Given the description of an element on the screen output the (x, y) to click on. 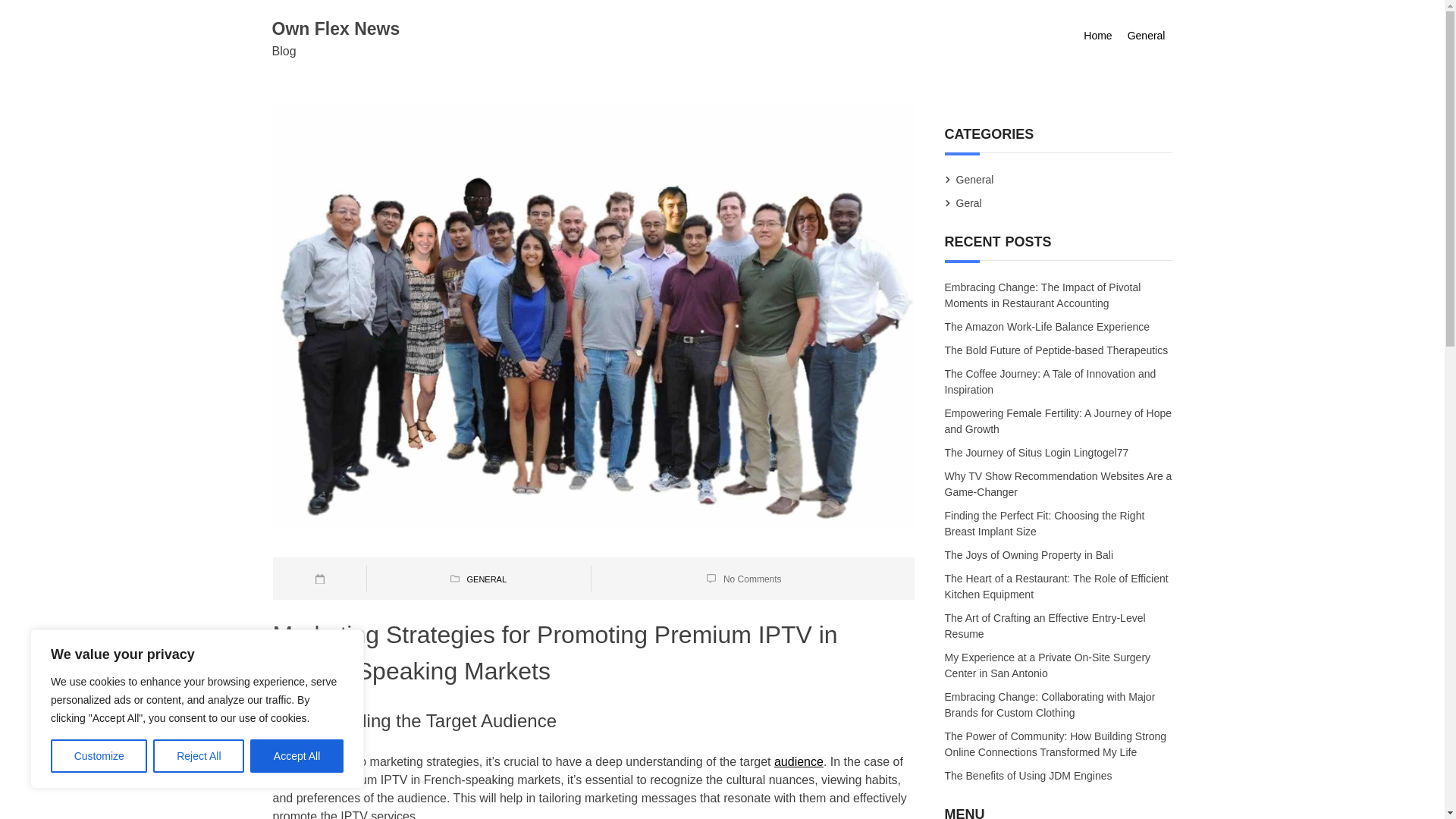
Empowering Female Fertility: A Journey of Hope and Growth (1058, 421)
No Comments (752, 579)
General (974, 179)
Why TV Show Recommendation Websites Are a Game-Changer (1058, 485)
GENERAL (485, 578)
audience (799, 761)
Customize (98, 756)
General (1146, 35)
Own Flex News (334, 28)
Geral (968, 203)
